Given the description of an element on the screen output the (x, y) to click on. 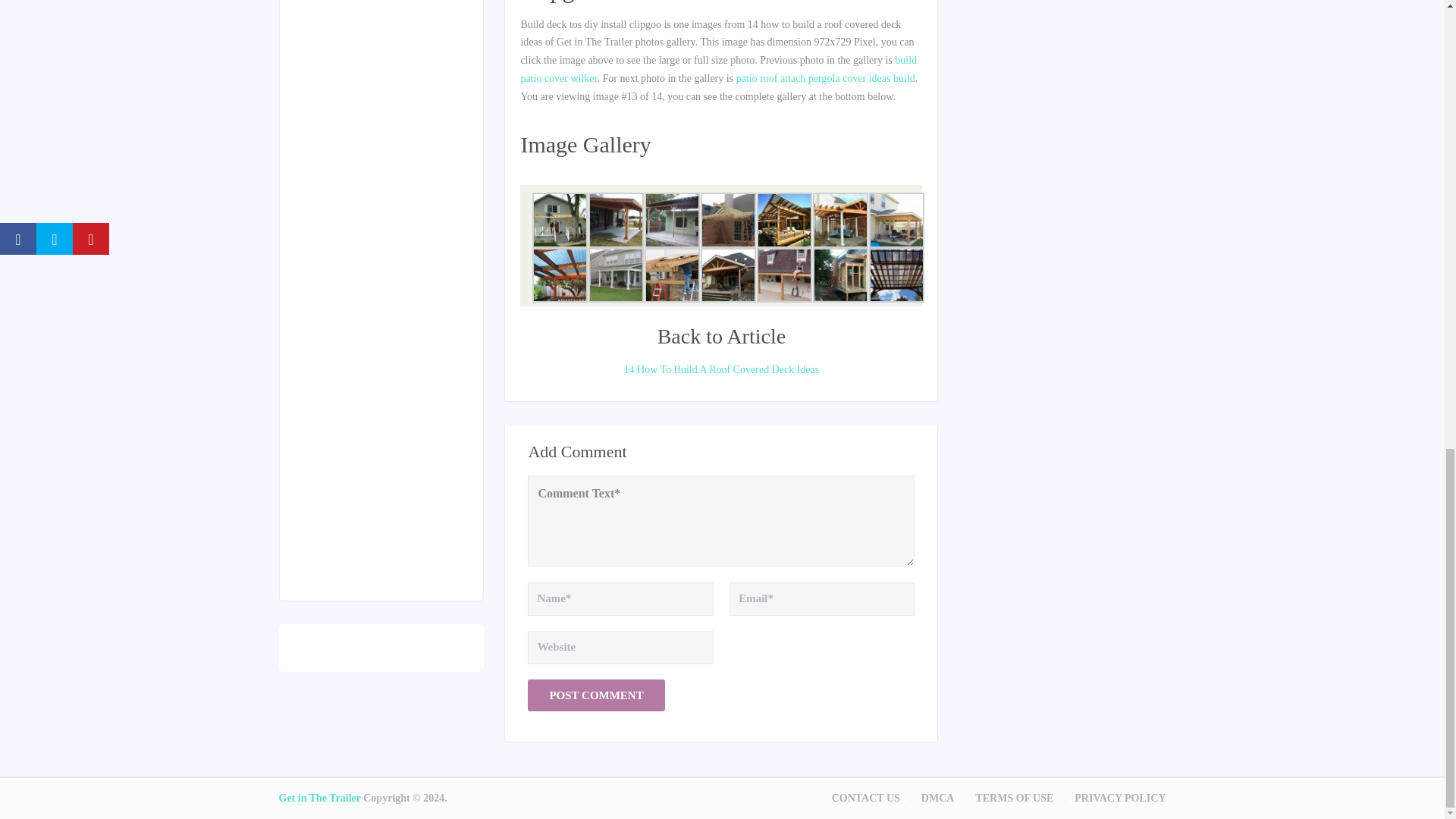
14 How To Build A Roof Covered Deck Ideas (720, 370)
build patio cover wilker (718, 69)
Post Comment (595, 695)
Post Comment (595, 695)
patio roof attach pergola cover ideas build (825, 78)
